Given the description of an element on the screen output the (x, y) to click on. 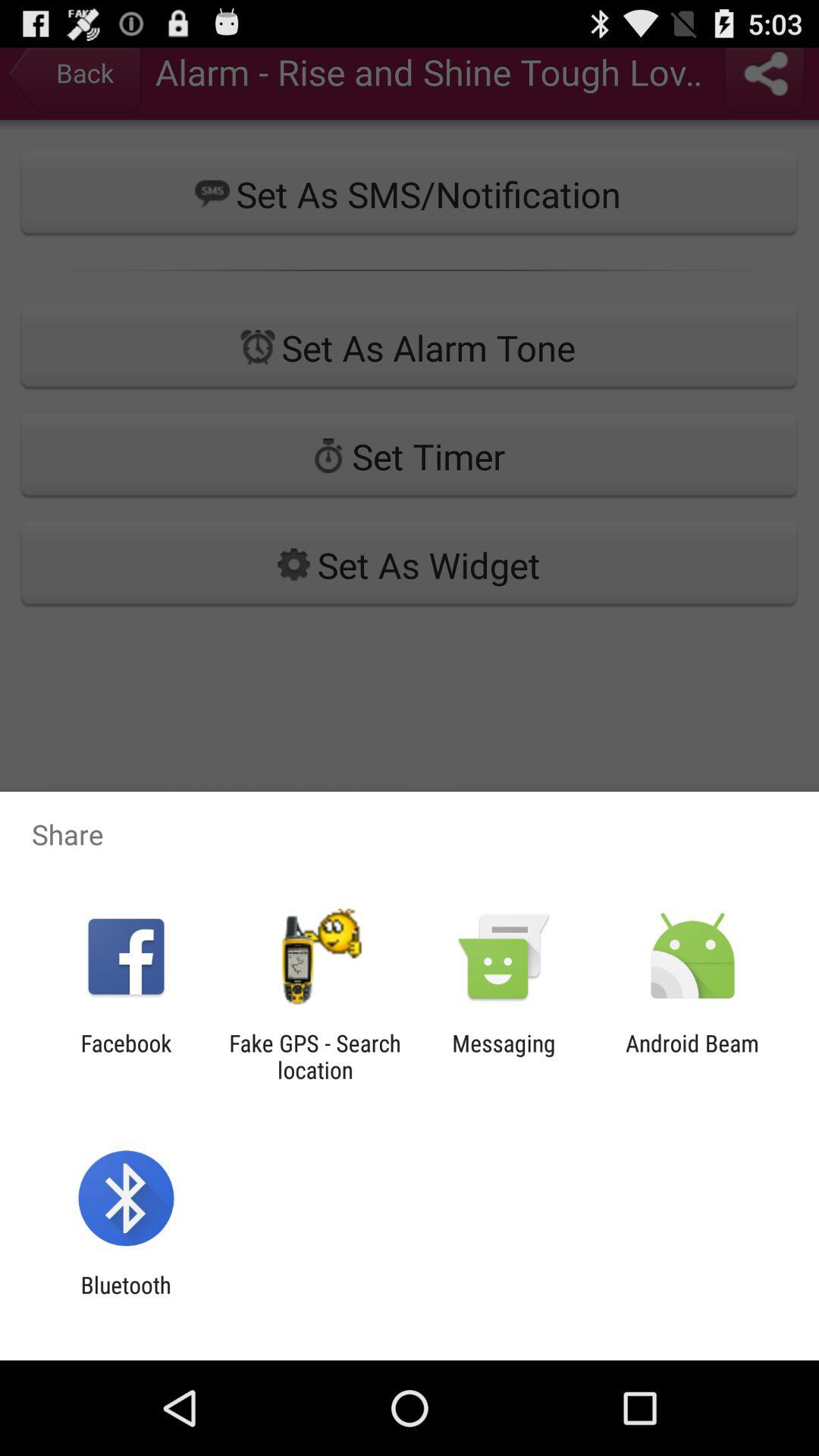
launch android beam at the bottom right corner (692, 1056)
